Given the description of an element on the screen output the (x, y) to click on. 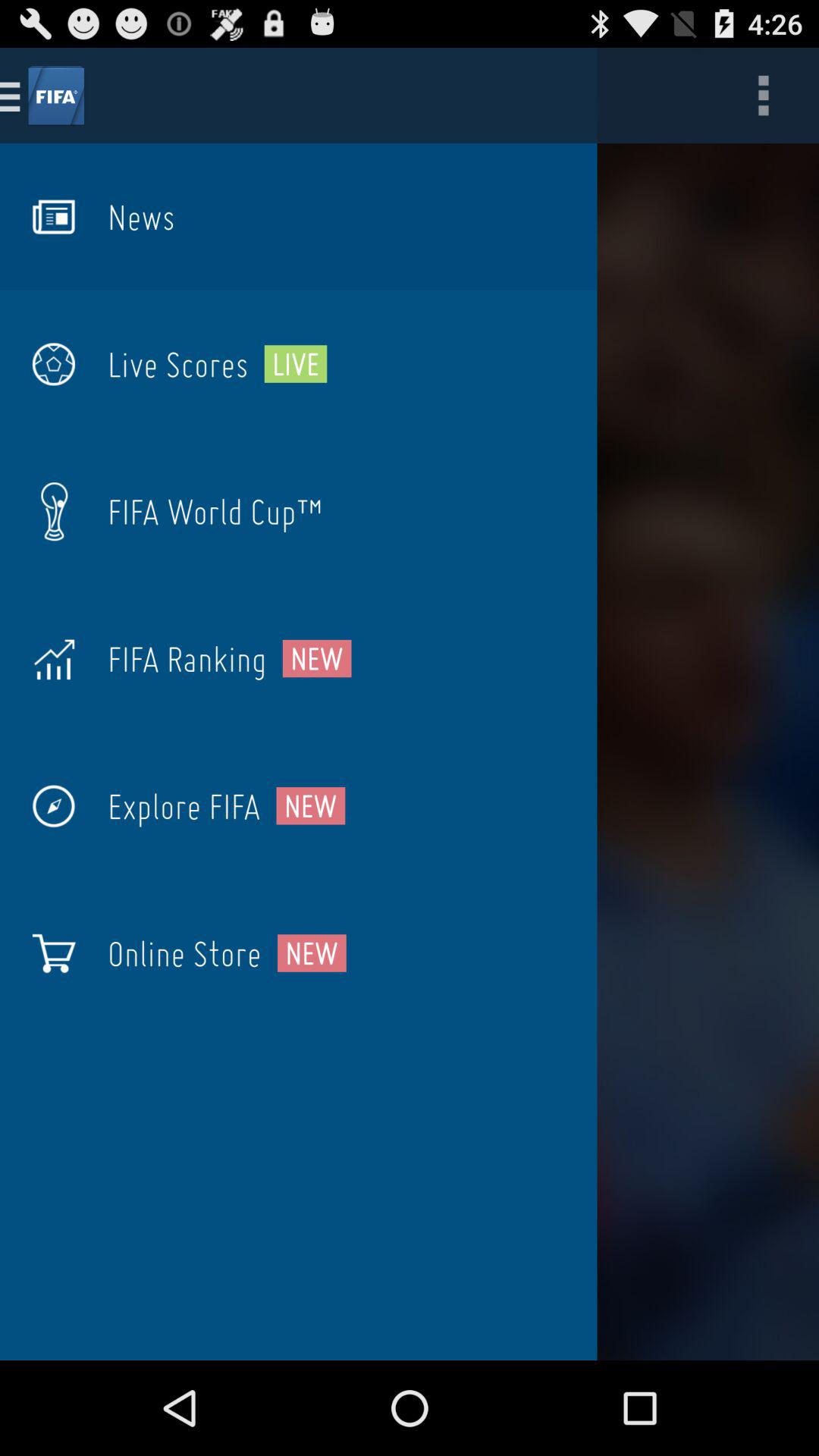
turn on the fifa ranking icon (186, 658)
